Given the description of an element on the screen output the (x, y) to click on. 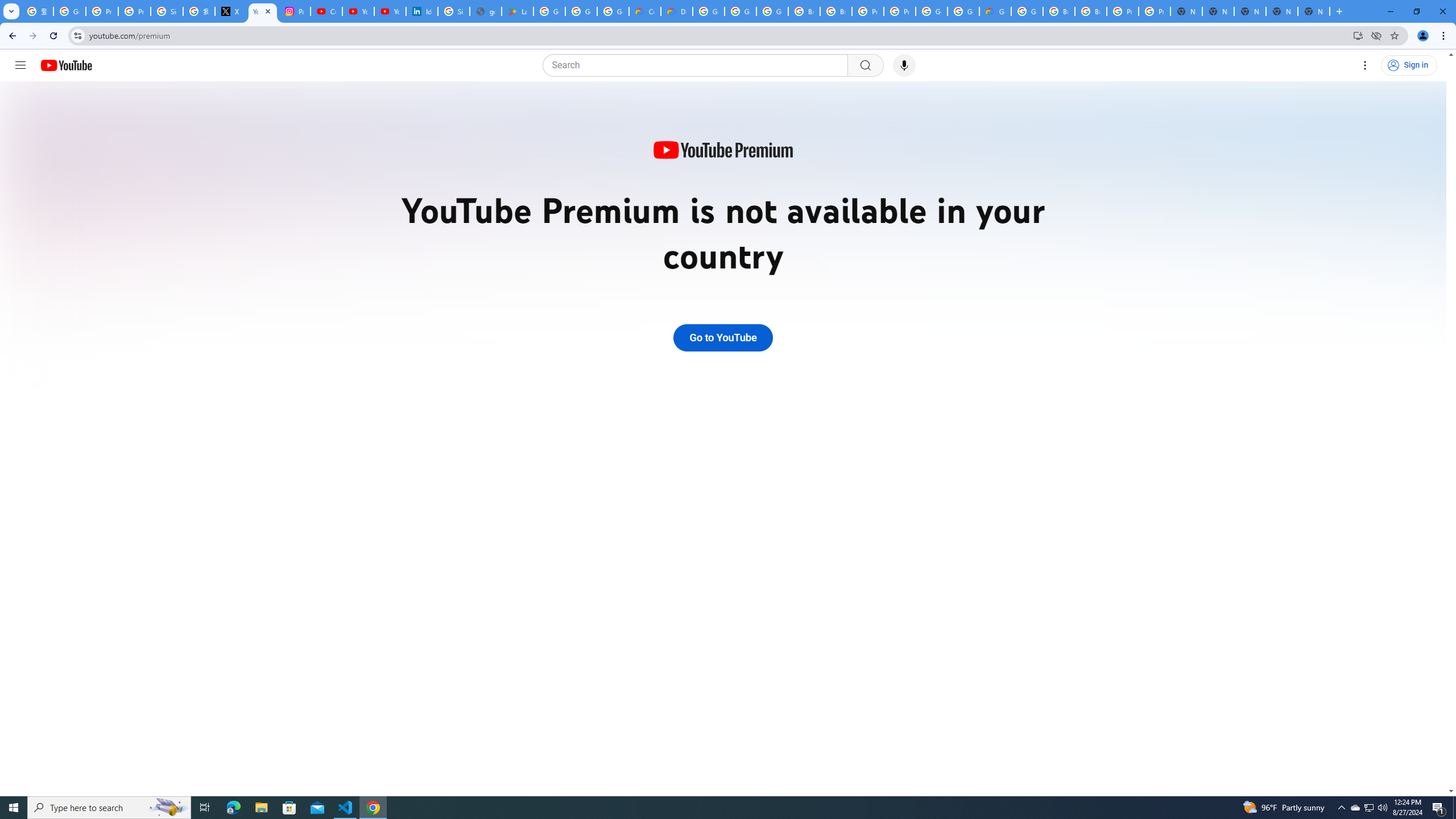
Google Cloud Platform (963, 11)
Google Cloud Estimate Summary (995, 11)
YouTube Premium logo (722, 151)
Guide (20, 65)
X (230, 11)
New Tab (1313, 11)
Google Workspace - Specific Terms (581, 11)
